Given the description of an element on the screen output the (x, y) to click on. 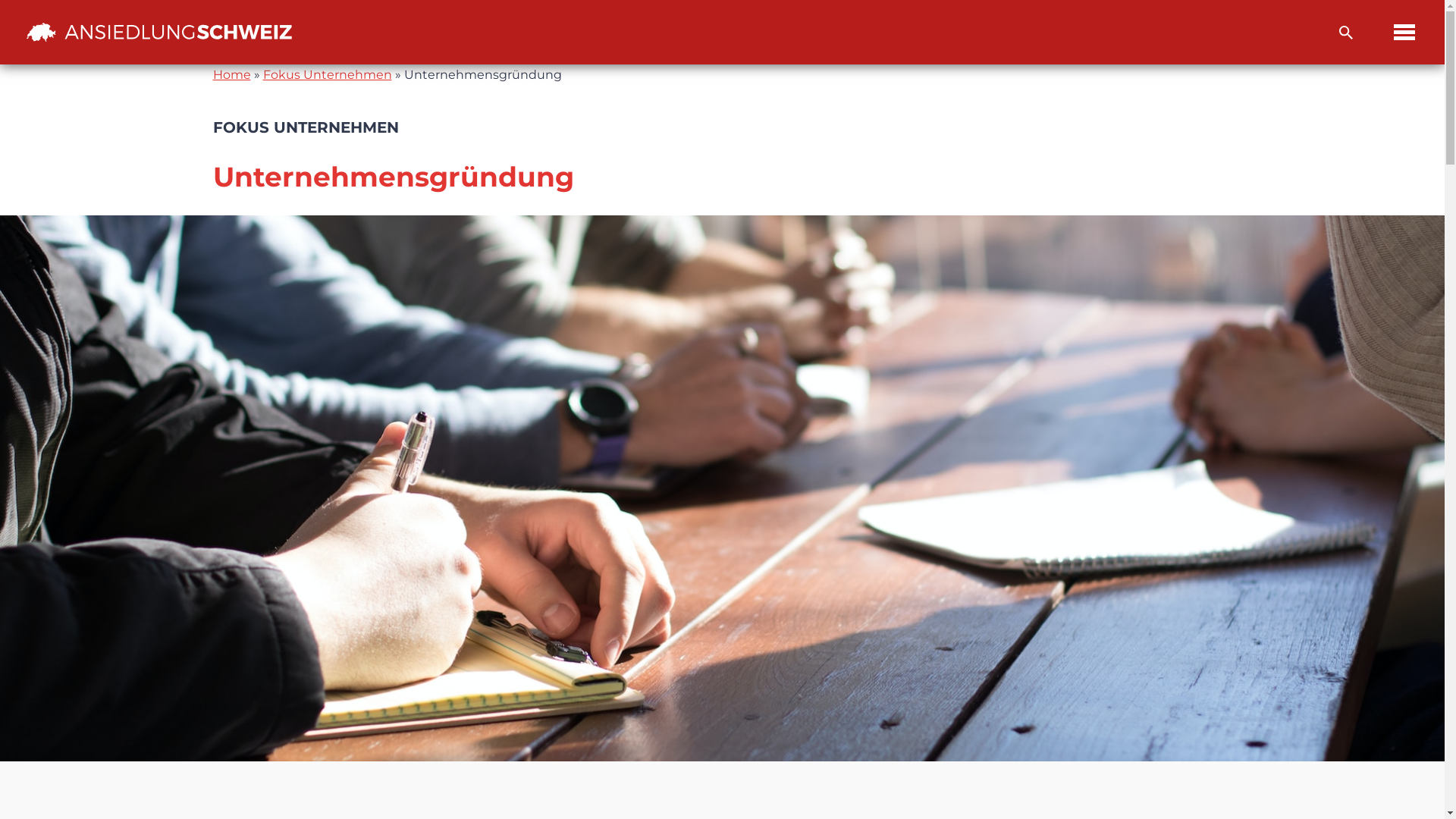
Fokus Unternehmen Element type: text (326, 74)
Home Element type: text (231, 74)
Zum Inhalt Element type: text (11, 31)
